Given the description of an element on the screen output the (x, y) to click on. 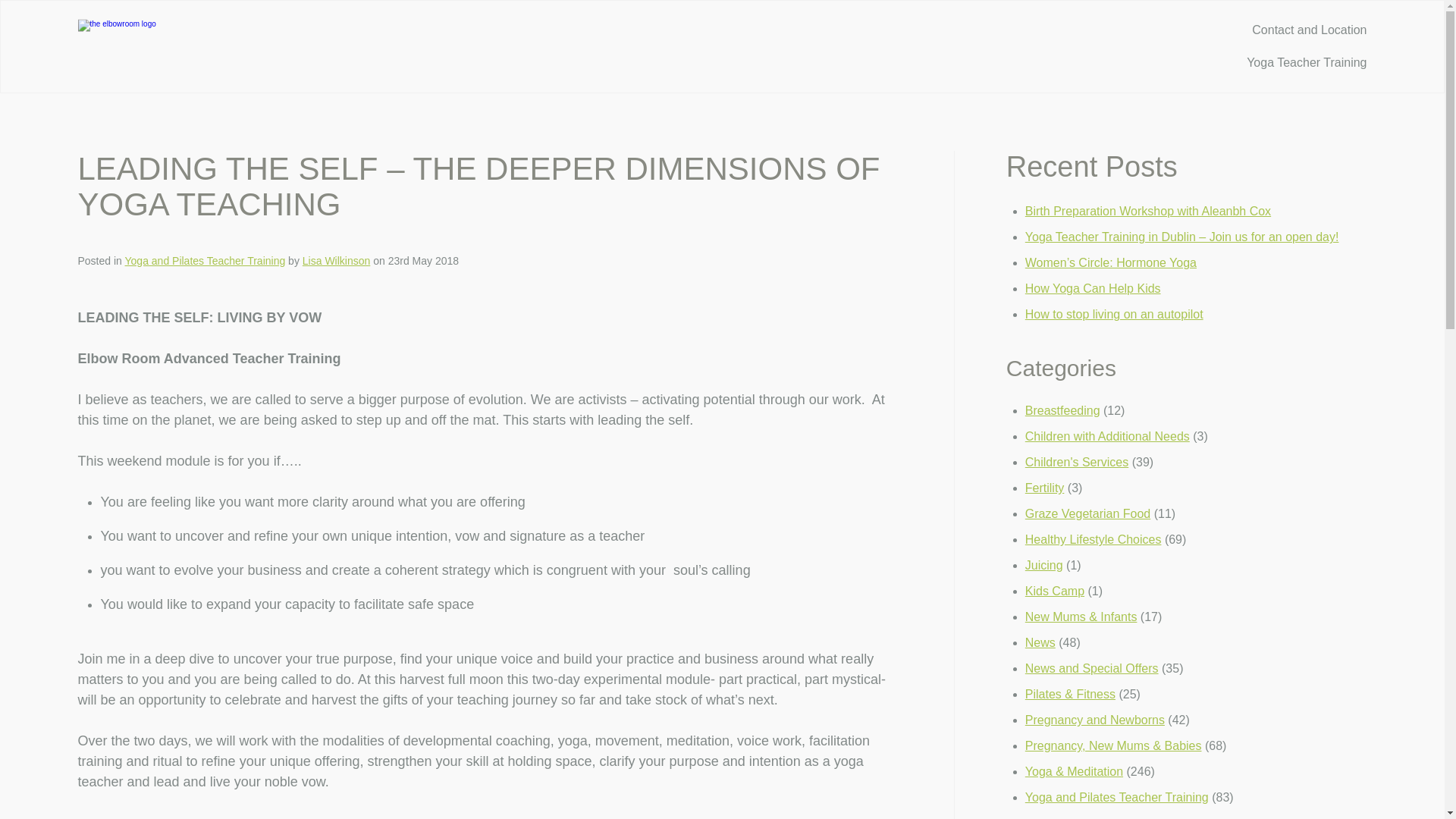
Fertility (1044, 487)
Breastfeeding (1062, 410)
Kids Camp (1054, 590)
How to stop living on an autopilot (1114, 314)
Birth Preparation Workshop with Aleanbh Cox (1148, 210)
Healthy Lifestyle Choices (1093, 539)
Graze Vegetarian Food (1087, 513)
Yoga and Pilates Teacher Training (205, 260)
Children with Additional Needs (1107, 436)
Juicing (1043, 564)
